Given the description of an element on the screen output the (x, y) to click on. 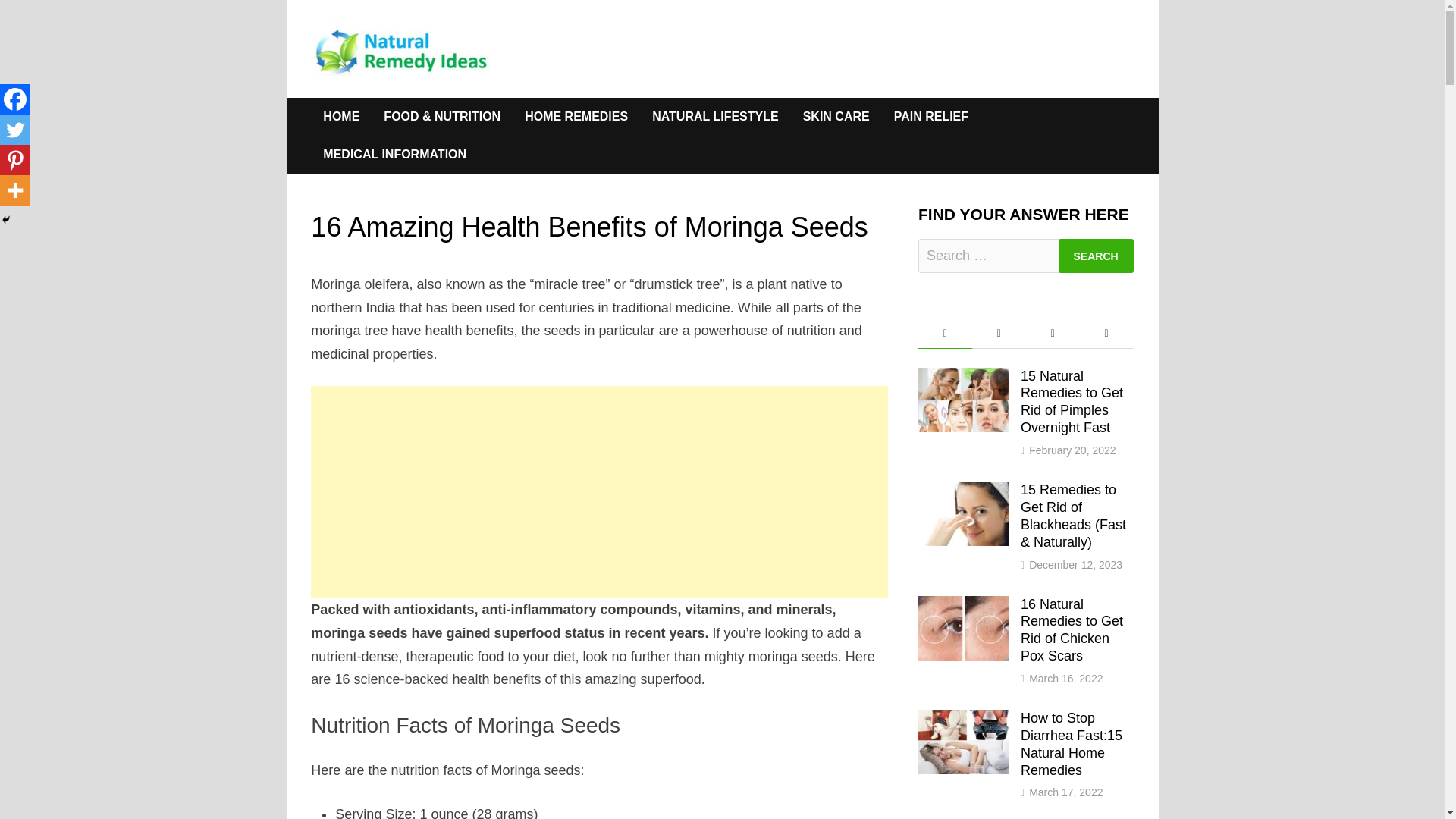
Hide (5, 219)
HOME (341, 116)
15 Natural Remedies to Get Rid of Pimples Overnight Fast (963, 377)
Advertisement (599, 491)
Pinterest (15, 159)
Search (1096, 255)
NATURAL LIFESTYLE (715, 116)
Facebook (15, 99)
SKIN CARE (836, 116)
HOME REMEDIES (576, 116)
Twitter (15, 129)
PAIN RELIEF (930, 116)
Search (1096, 255)
MEDICAL INFORMATION (395, 154)
More (15, 190)
